Given the description of an element on the screen output the (x, y) to click on. 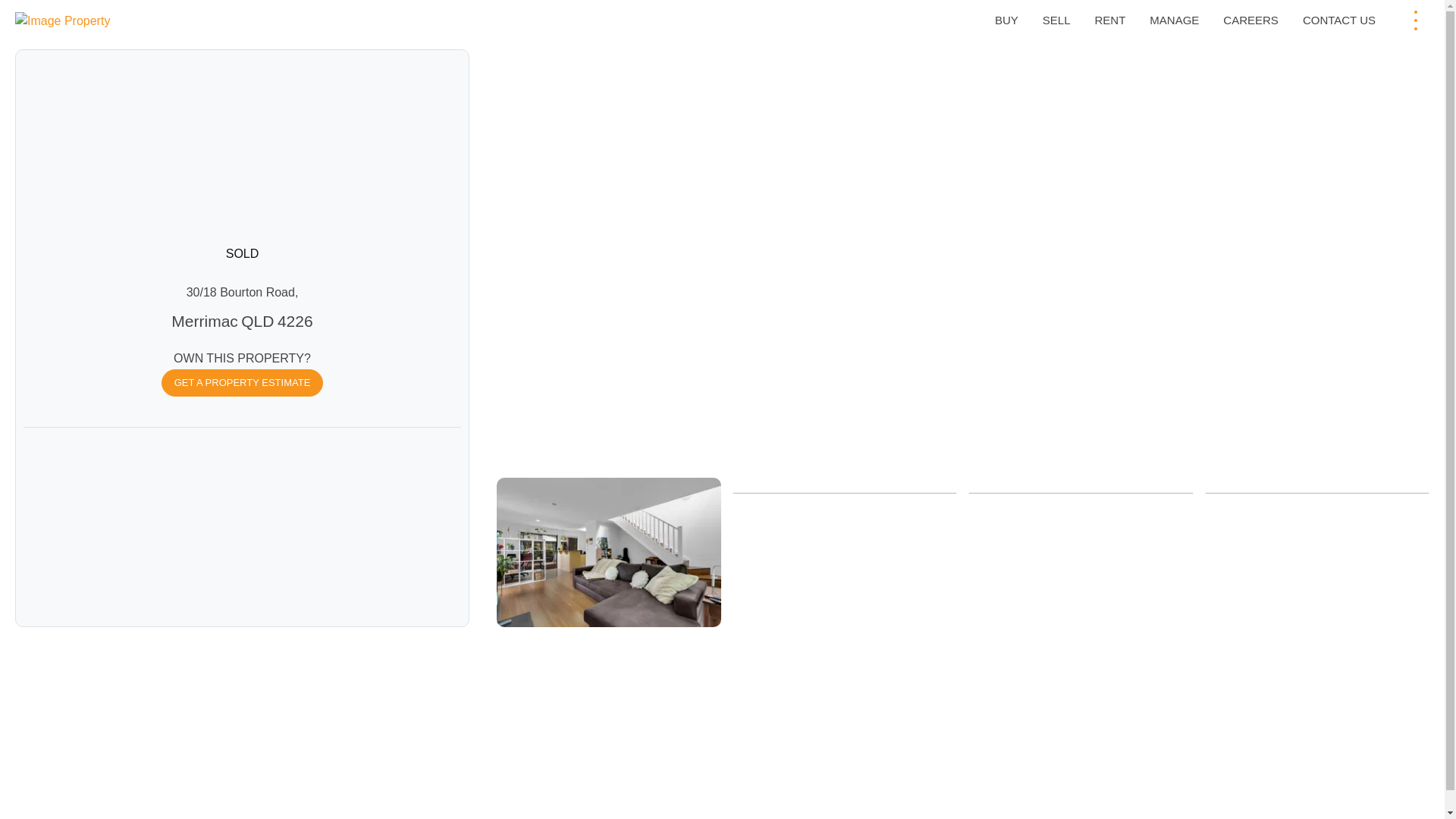
MANAGE (1173, 20)
Contact Us (1339, 20)
BUY (1006, 20)
Careers (1250, 20)
Sell (1056, 20)
Manage (1173, 20)
Rent (1109, 20)
Buy (1006, 20)
RENT (1109, 20)
CONTACT US (1339, 20)
